Given the description of an element on the screen output the (x, y) to click on. 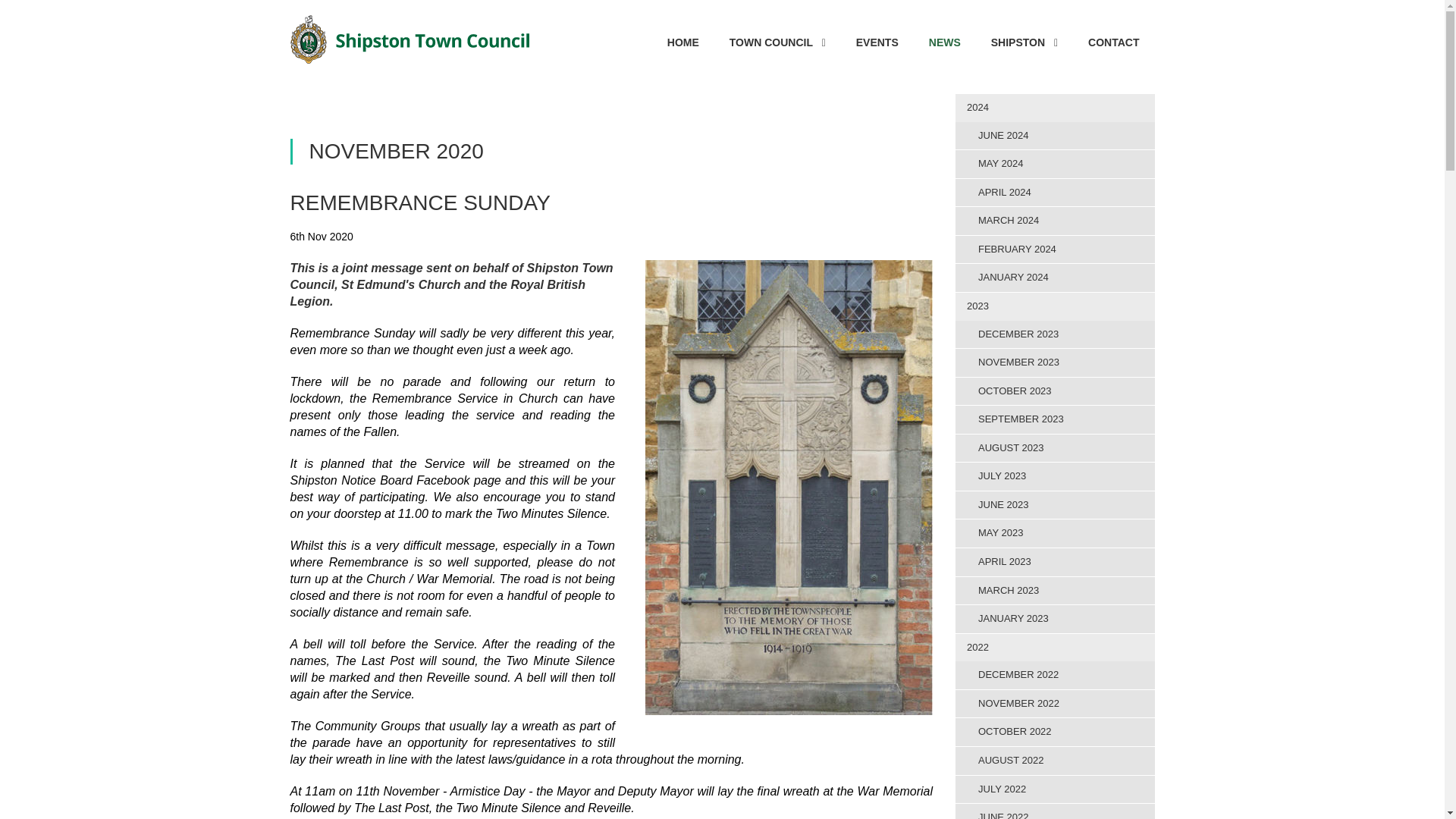
SEPTEMBER 2023 (1054, 419)
MARCH 2024 (1054, 221)
SHIPSTON (1024, 42)
FEBRUARY 2024 (1054, 249)
EVENTS (877, 42)
AUGUST 2023 (1054, 448)
APRIL 2024 (1054, 193)
Shipston-on-Stour Town Council - News (944, 42)
Home (683, 42)
NEWS (944, 42)
Contact Shipston-on-Stour Town Council (1113, 42)
Shipston-on-Stour Town Council - Events - What's On (877, 42)
OCTOBER 2023 (1054, 391)
JANUARY 2024 (1054, 277)
Shipston (1024, 42)
